Given the description of an element on the screen output the (x, y) to click on. 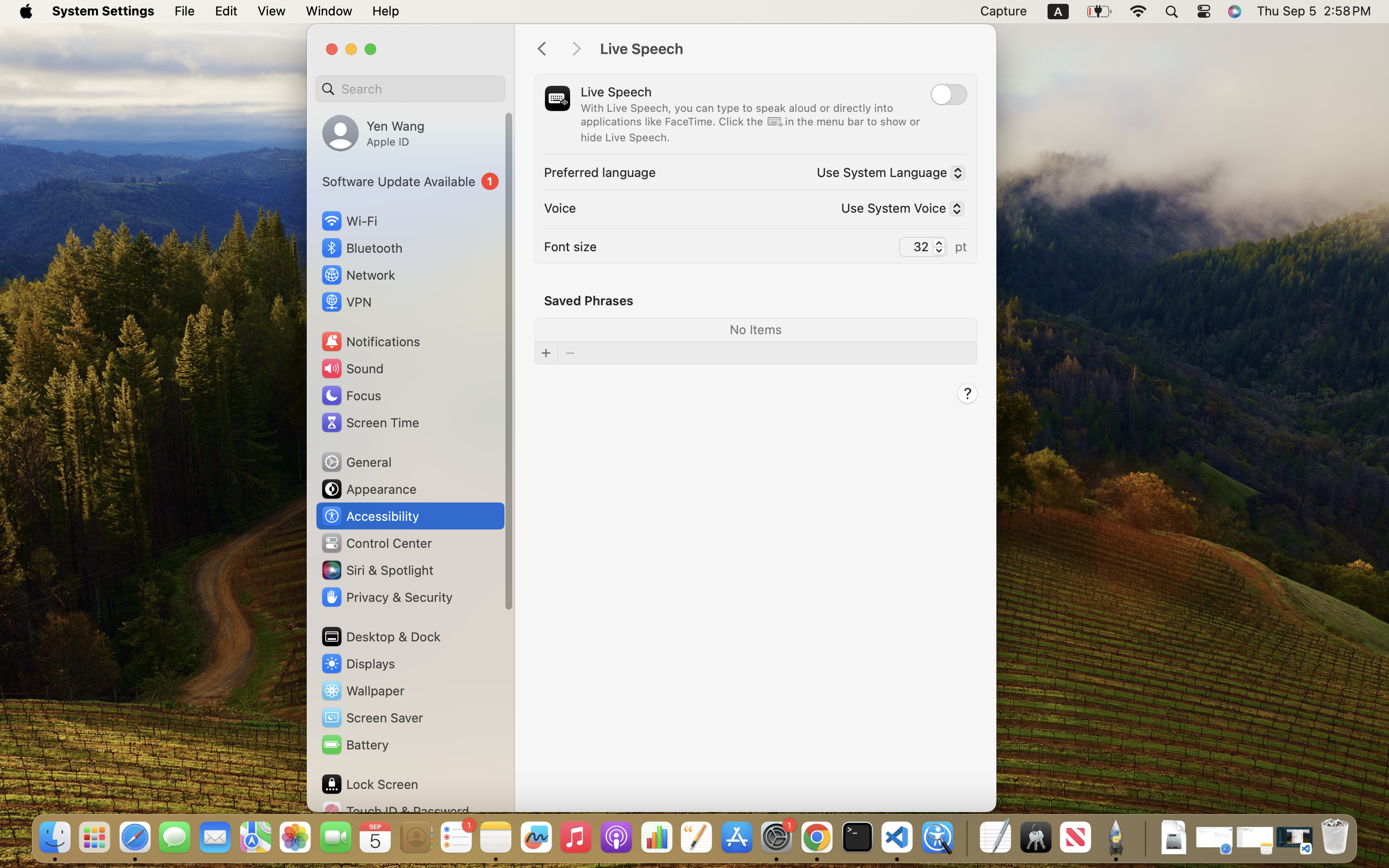
Appearance Element type: AXStaticText (368, 488)
Wallpaper Element type: AXStaticText (362, 690)
Screen Time Element type: AXStaticText (369, 422)
Bluetooth Element type: AXStaticText (361, 247)
Use System Voice Element type: AXPopUpButton (898, 209)
